Given the description of an element on the screen output the (x, y) to click on. 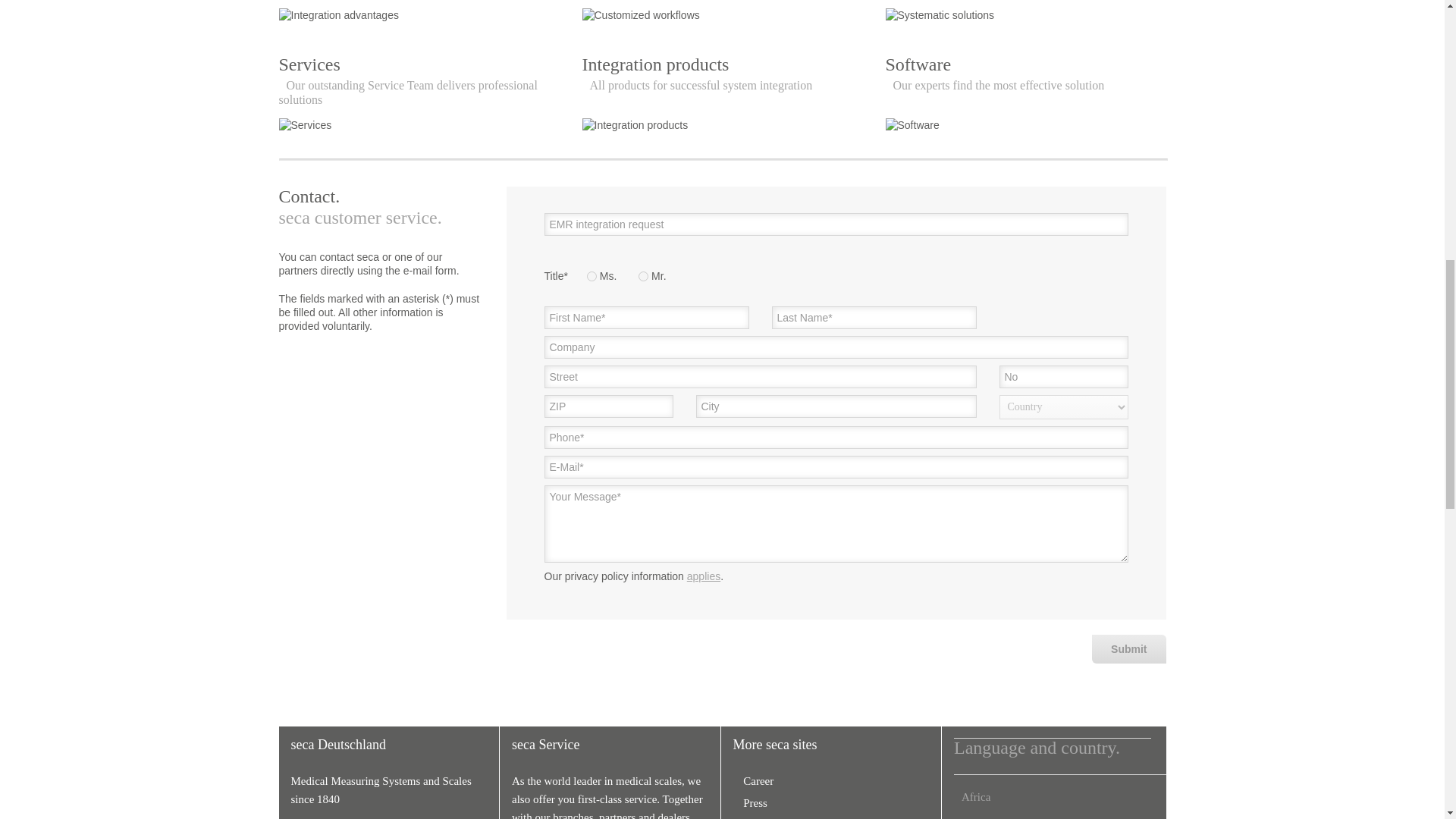
Ms. (591, 276)
Press (751, 802)
applies (703, 576)
Submit (1129, 648)
first-class service (618, 799)
Mr. (643, 276)
Press (751, 802)
Career (754, 780)
